Given the description of an element on the screen output the (x, y) to click on. 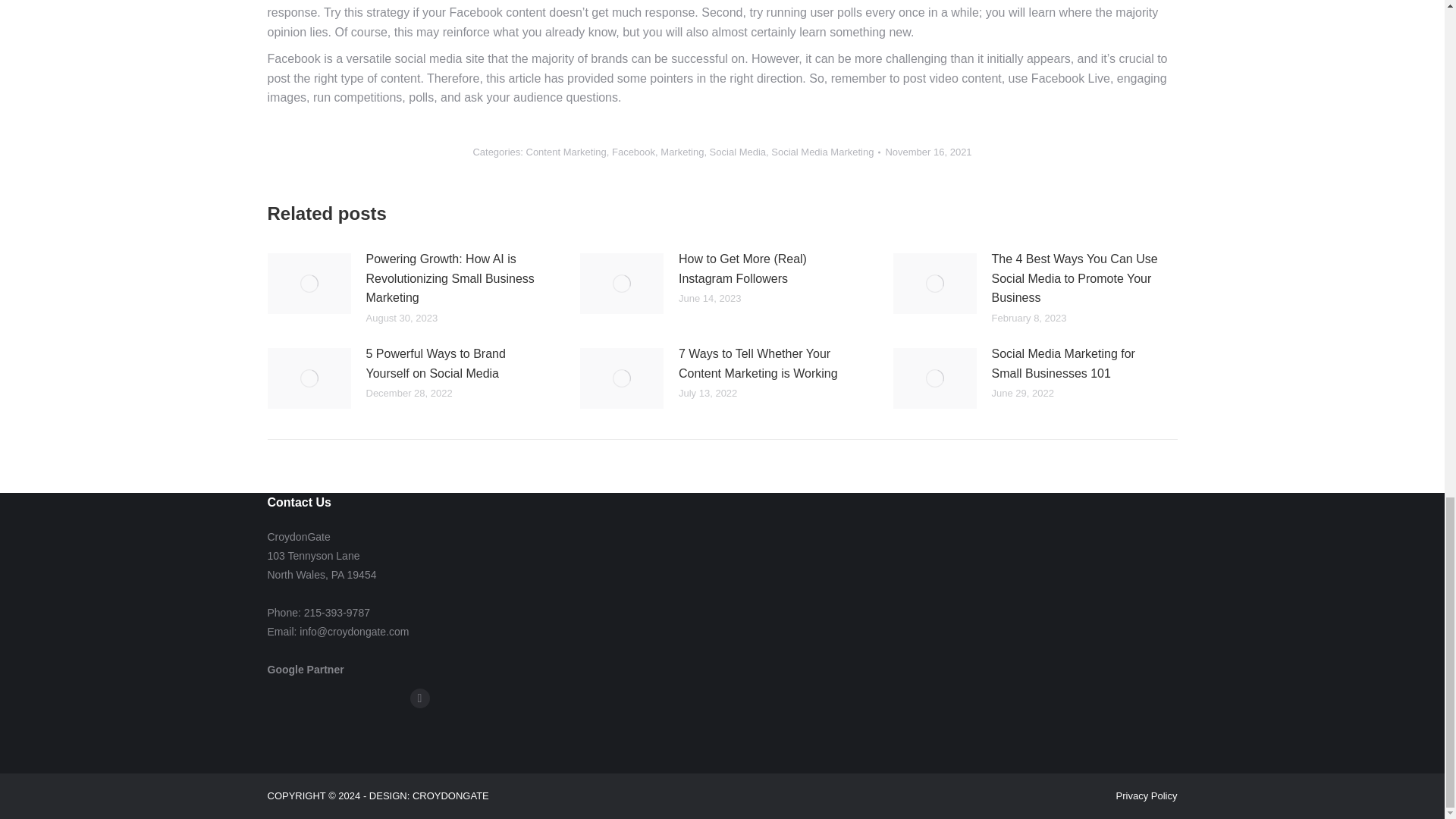
Social Media Marketing (822, 152)
November 16, 2021 (928, 151)
Content Marketing (566, 152)
Facebook (633, 152)
8:30 am (928, 151)
Facebook page opens in new window (419, 698)
Marketing (682, 152)
Social Media Marketing for Small Businesses 101 (1080, 363)
Social Media (737, 152)
7 Ways to Tell Whether Your Content Marketing is Working (767, 363)
5 Powerful Ways to Brand Yourself on Social Media (453, 363)
